Given the description of an element on the screen output the (x, y) to click on. 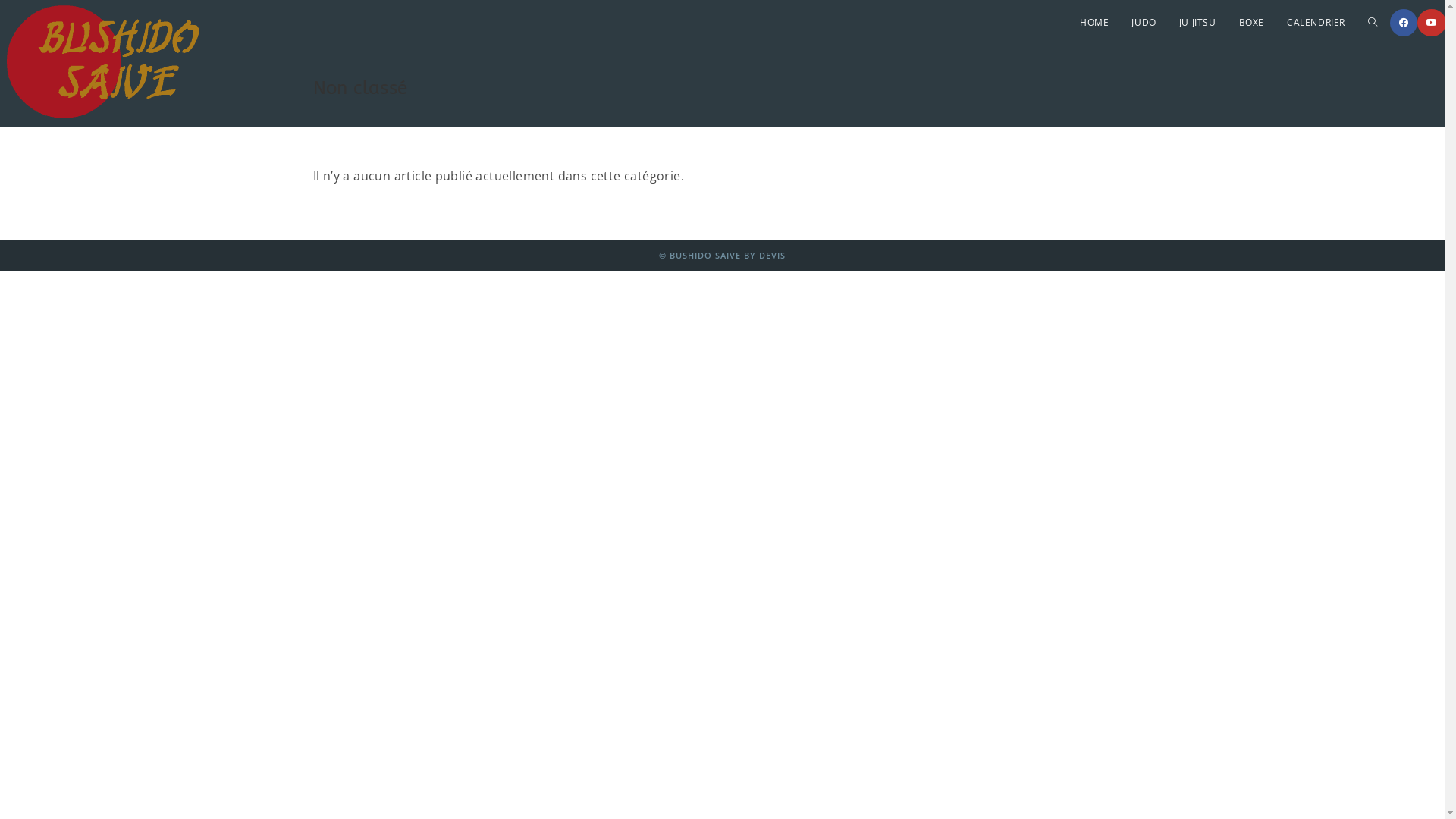
CALENDRIER Element type: text (1315, 22)
TOGGLE WEBSITE SEARCH Element type: text (1372, 22)
JUDO Element type: text (1143, 22)
HOME Element type: text (1094, 22)
BOXE Element type: text (1251, 22)
JU JITSU Element type: text (1197, 22)
